Given the description of an element on the screen output the (x, y) to click on. 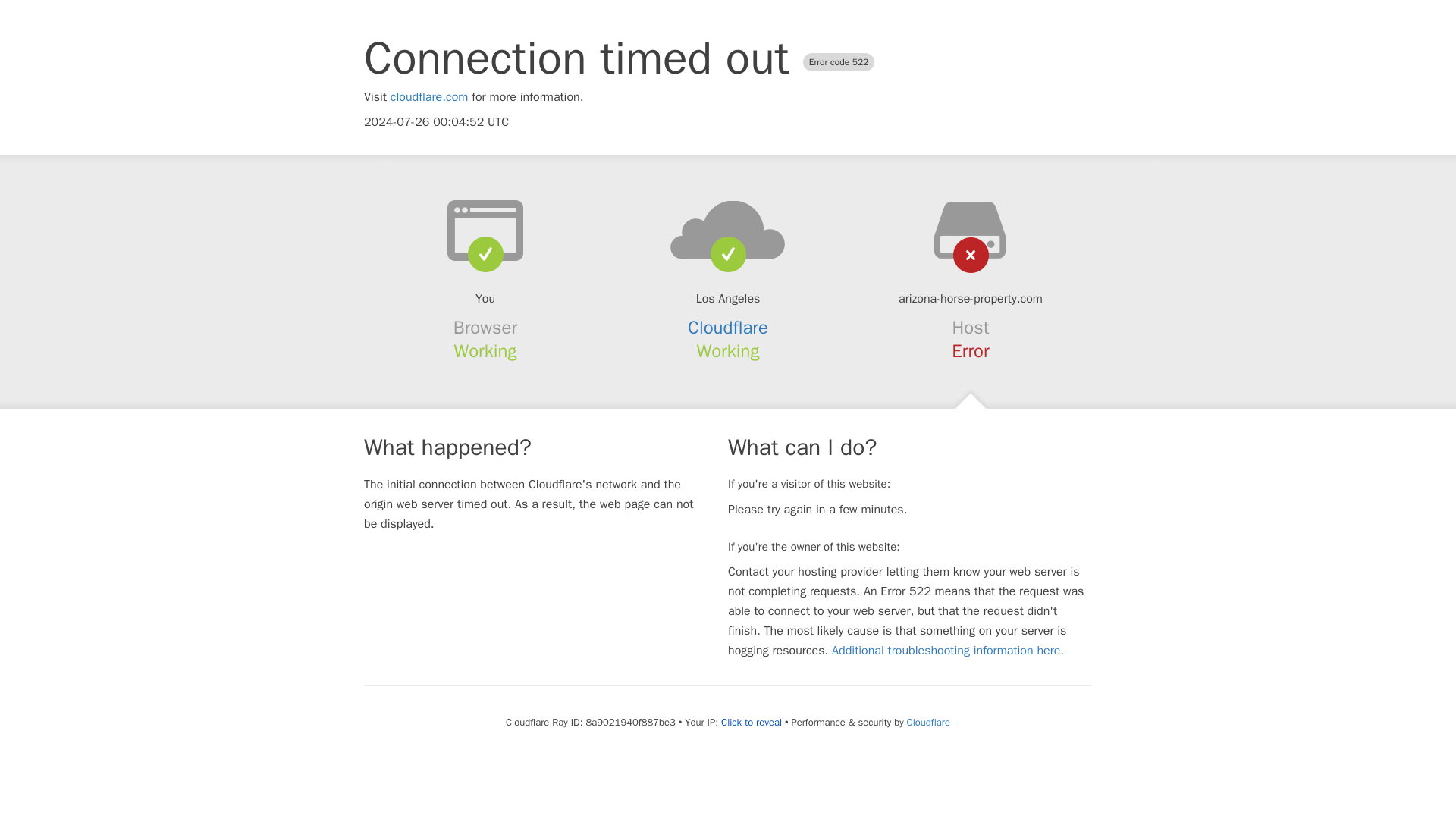
Cloudflare (727, 327)
Click to reveal (750, 722)
cloudflare.com (429, 96)
Cloudflare (928, 721)
Additional troubleshooting information here. (947, 650)
